Given the description of an element on the screen output the (x, y) to click on. 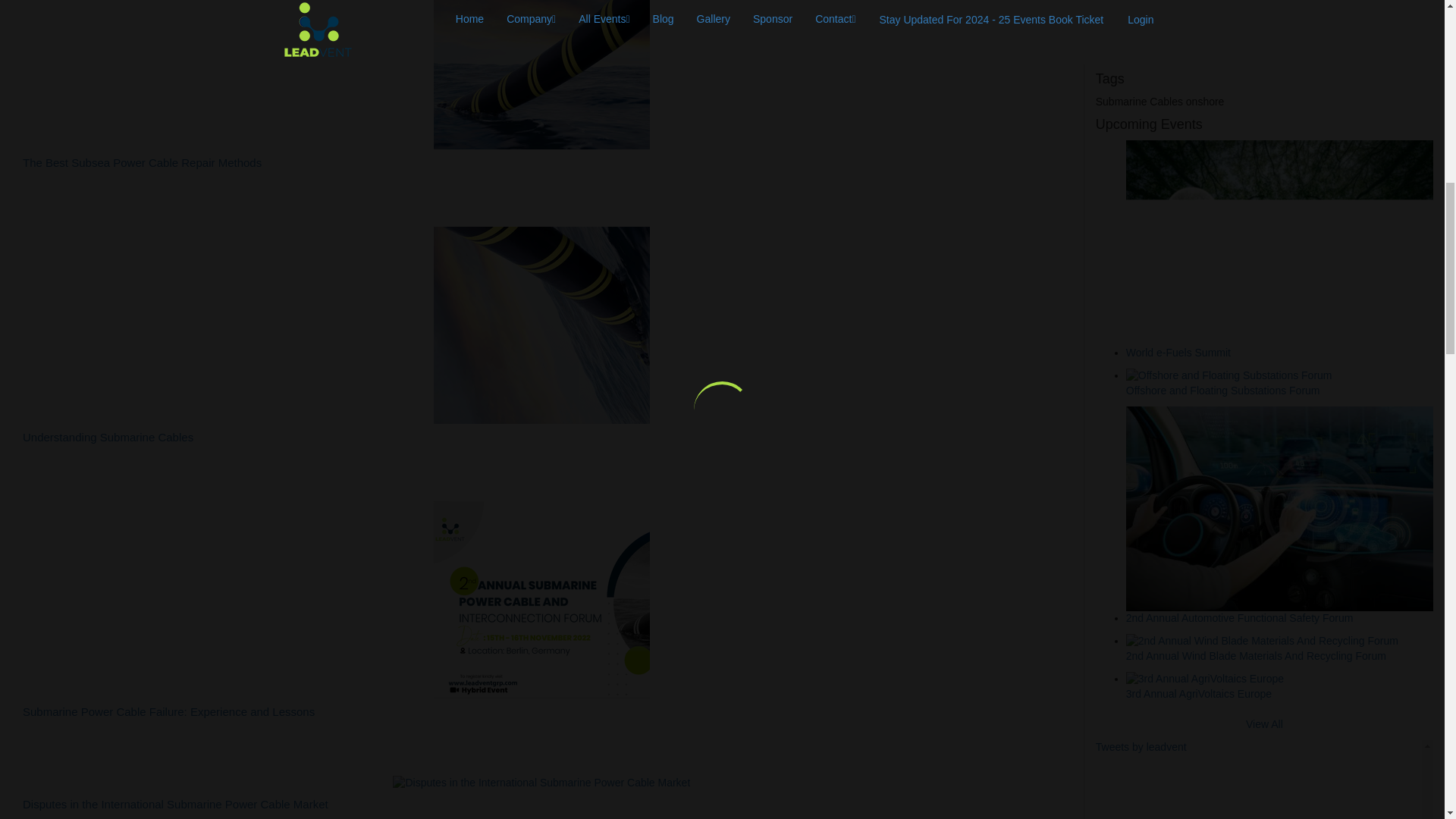
Disputes in the International Submarine Power Cable Market (542, 804)
Understanding Submarine Cables (542, 437)
Submarine Power Cable Failure: Experience and Lessons (542, 712)
The Best Subsea Power Cable Repair Methods (542, 163)
